Given the description of an element on the screen output the (x, y) to click on. 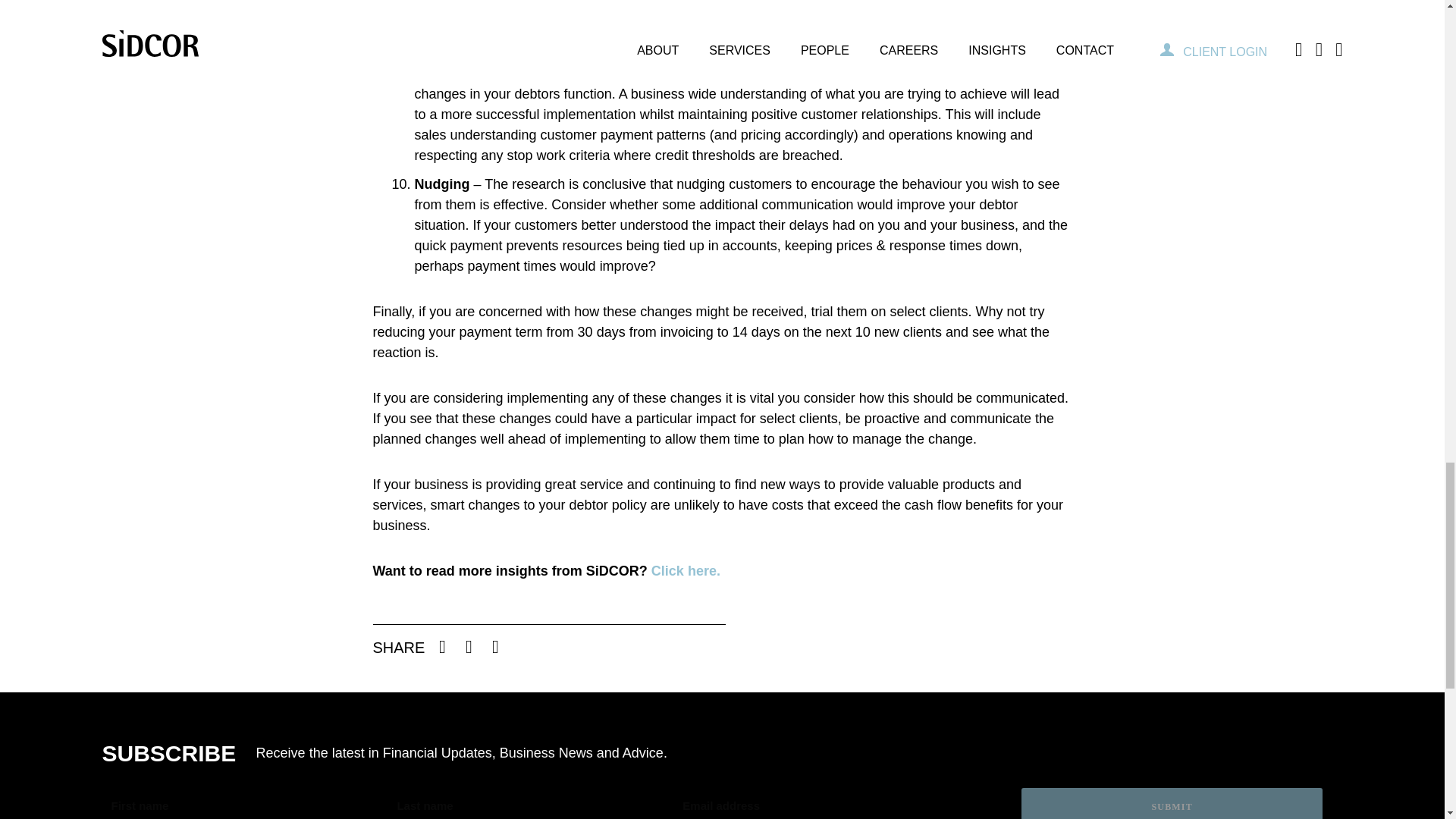
Click here. (685, 570)
Submit (1172, 803)
Submit (1172, 803)
Tweet this (468, 647)
Share this (494, 647)
Share this (442, 647)
